Given the description of an element on the screen output the (x, y) to click on. 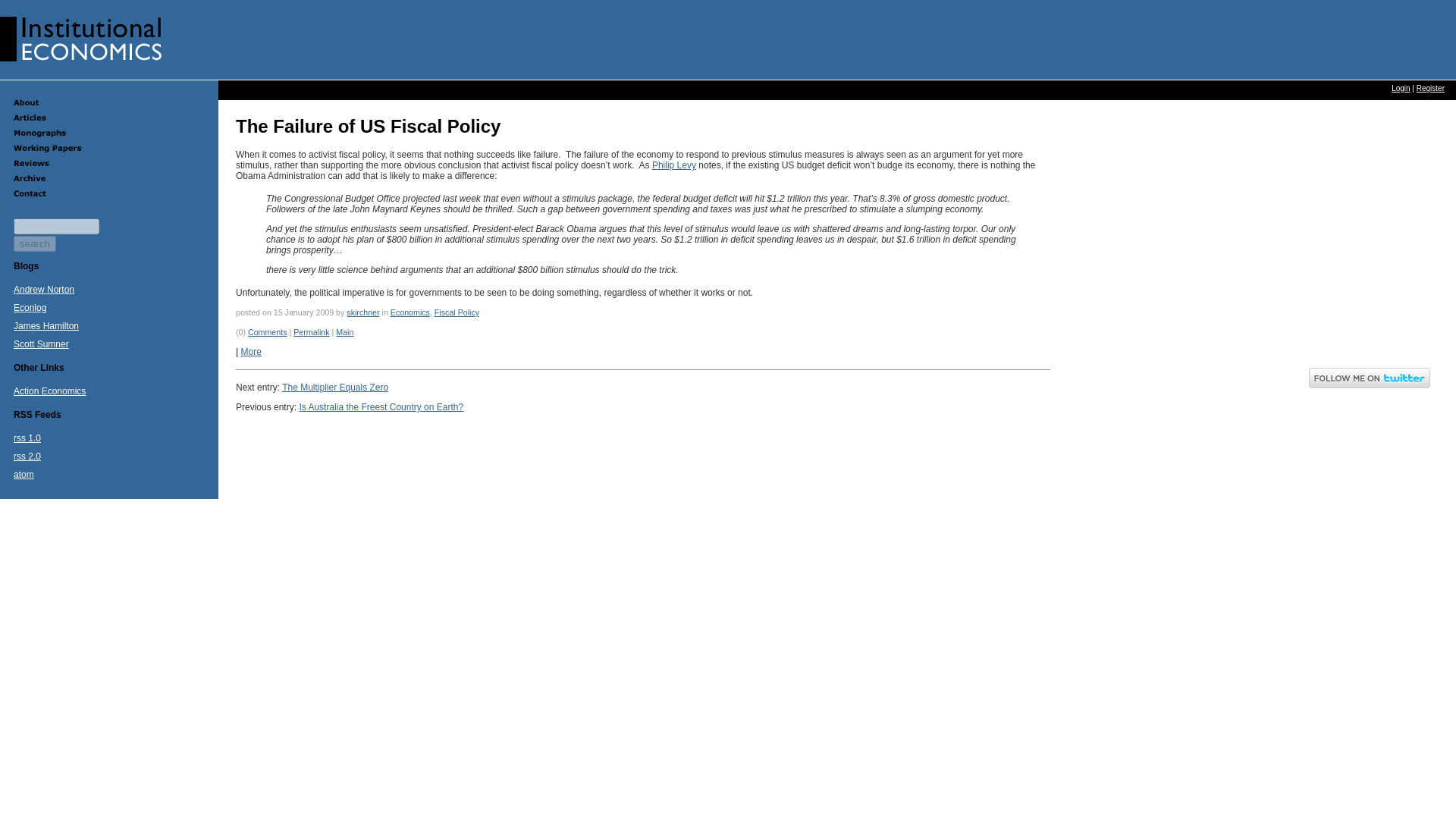
Is Australia the Freest Country on Earth? (380, 407)
Andrew Norton (43, 289)
Permalink (311, 331)
James Hamilton (45, 326)
Fiscal Policy (456, 311)
Philip Levy (673, 164)
search (34, 243)
Comments (266, 331)
Scott Sumner (40, 344)
Econlog (29, 307)
Economics (409, 311)
Main (344, 331)
More (250, 351)
search (34, 243)
rss 1.0 (26, 438)
